Given the description of an element on the screen output the (x, y) to click on. 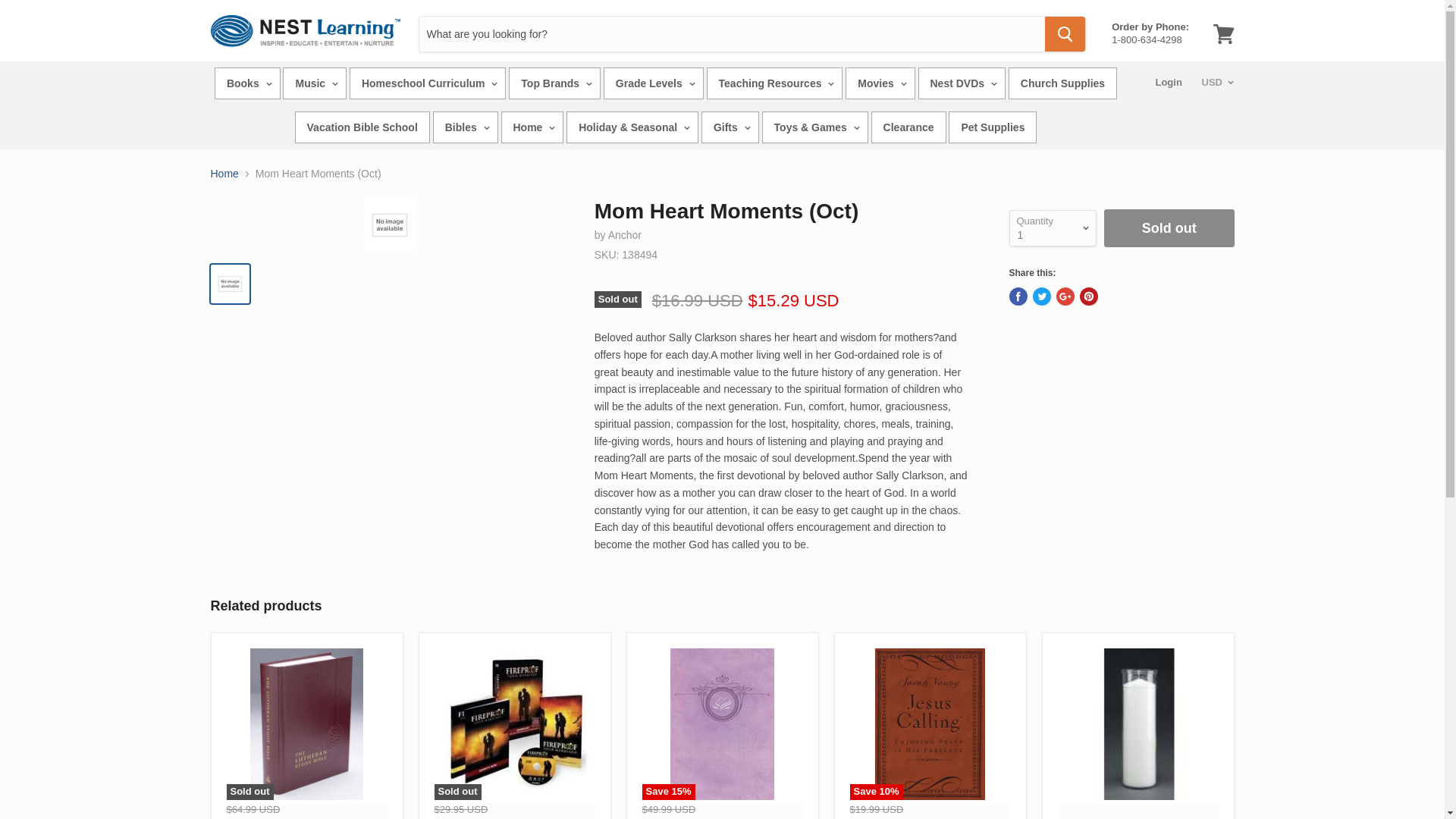
Homeschool Curriculum (1150, 33)
Top Brands (427, 83)
View cart (553, 83)
Music (1223, 33)
Books (314, 83)
